Given the description of an element on the screen output the (x, y) to click on. 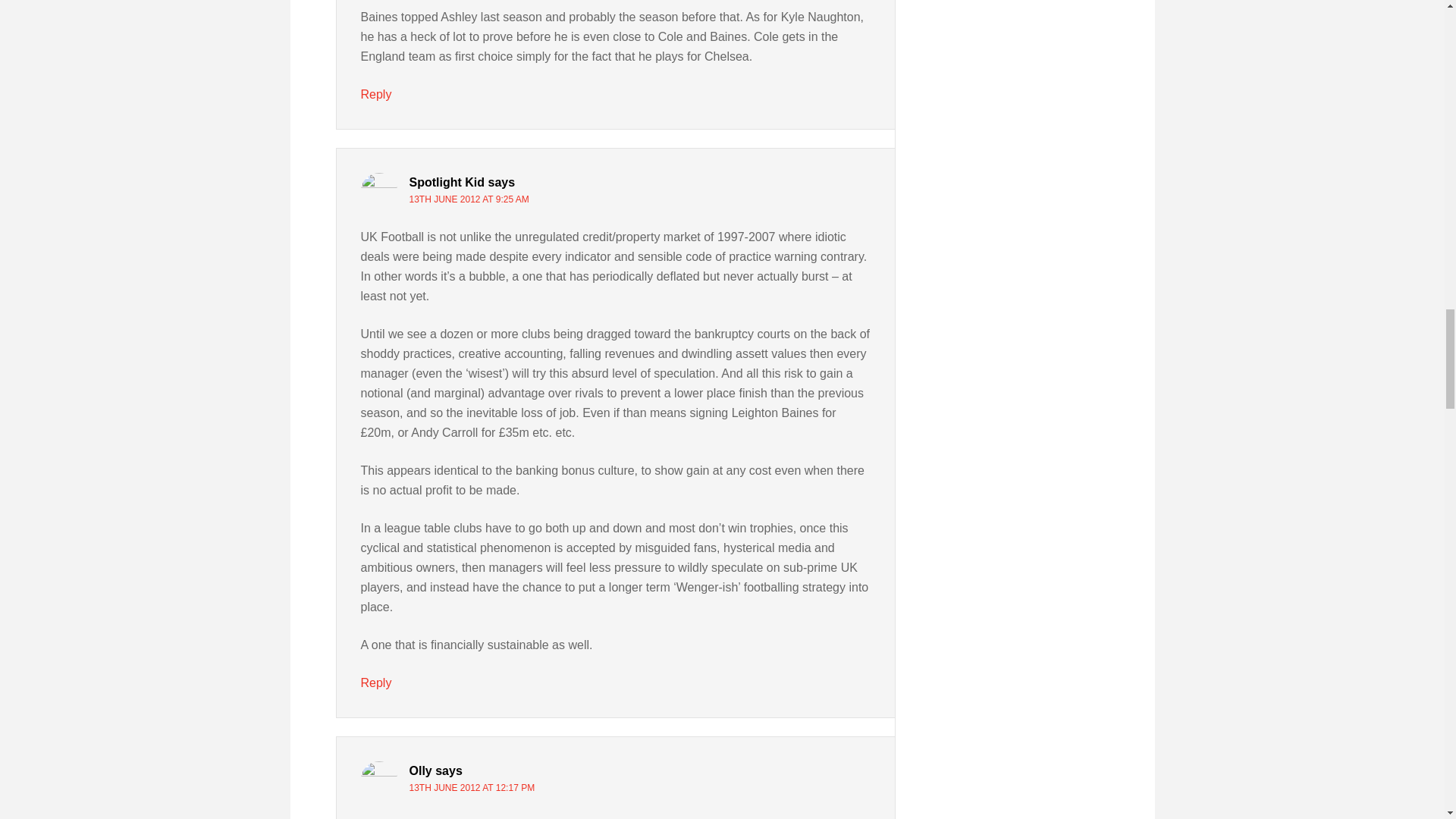
Reply (376, 682)
Reply (376, 93)
13TH JUNE 2012 AT 9:25 AM (469, 199)
13TH JUNE 2012 AT 12:17 PM (472, 787)
